Given the description of an element on the screen output the (x, y) to click on. 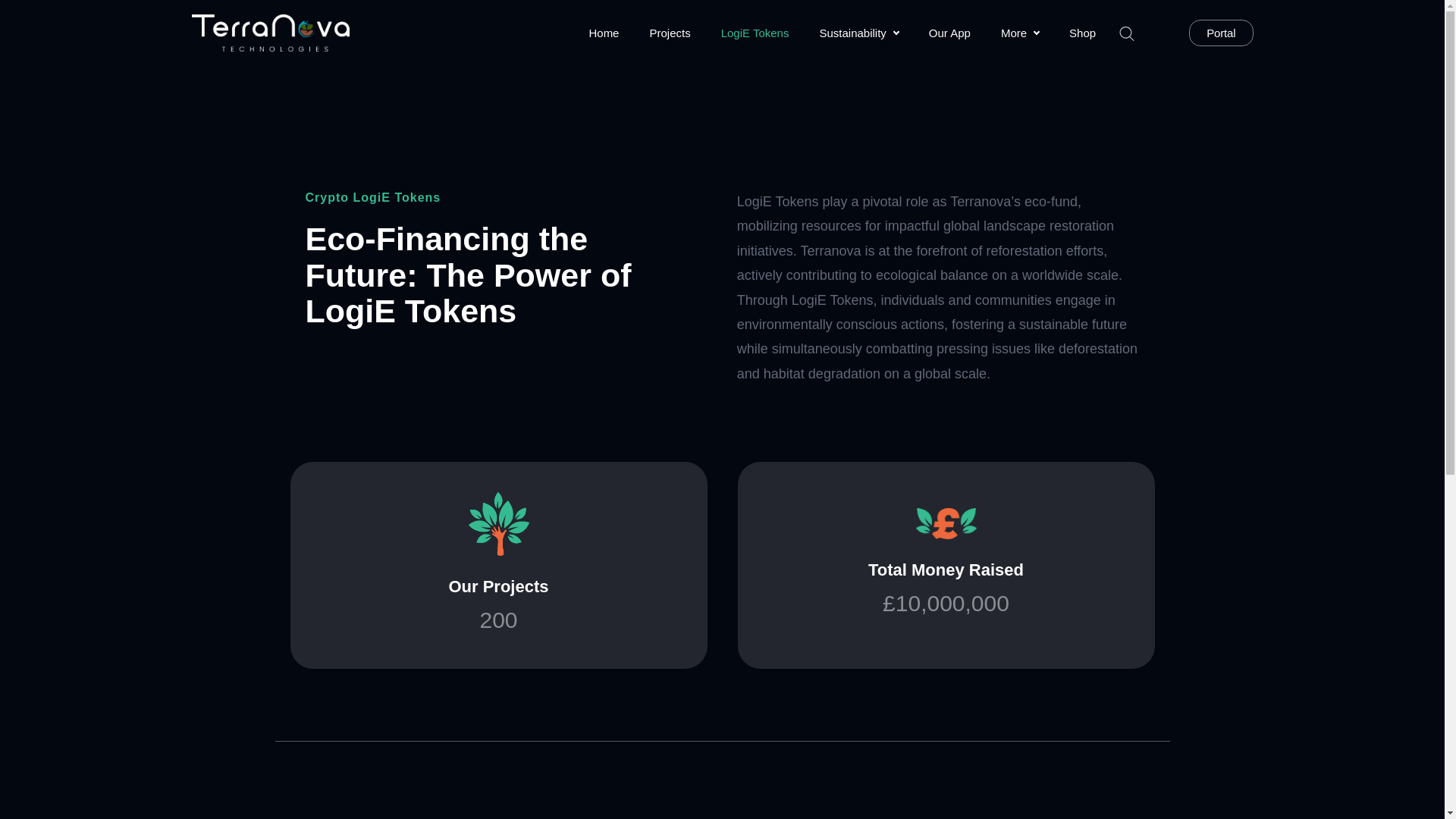
LogiE Tokens (755, 32)
Projects (498, 565)
Home (668, 32)
Sustainability (603, 32)
Our App (857, 32)
Portal (949, 32)
Search (1220, 32)
More (16, 16)
Shop (1019, 32)
